Given the description of an element on the screen output the (x, y) to click on. 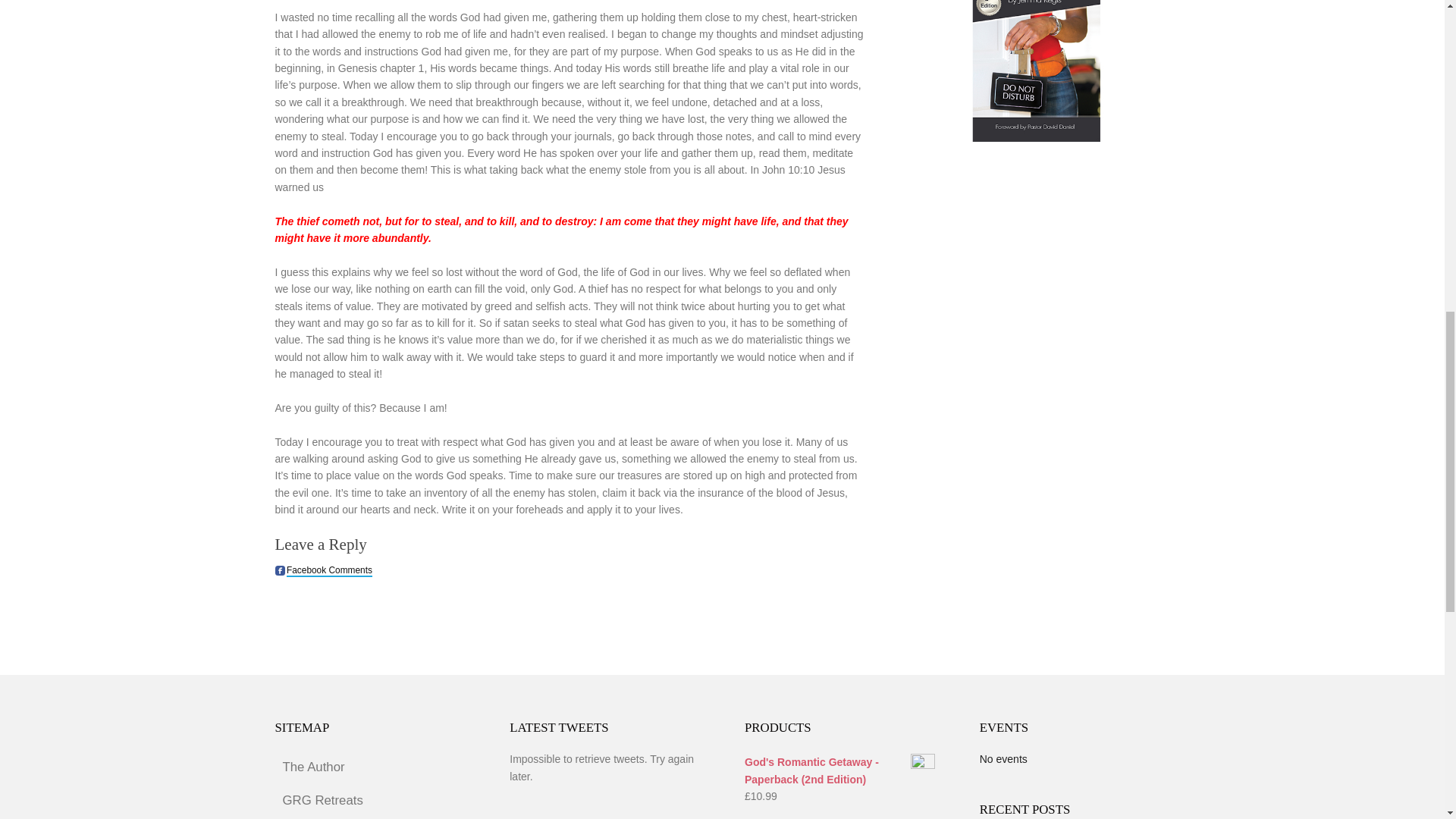
Facebook Comments (279, 570)
Facebook Comments (329, 571)
Spiritual Intimacy With God (369, 817)
GRG Retreats (369, 800)
The Author (369, 767)
